Given the description of an element on the screen output the (x, y) to click on. 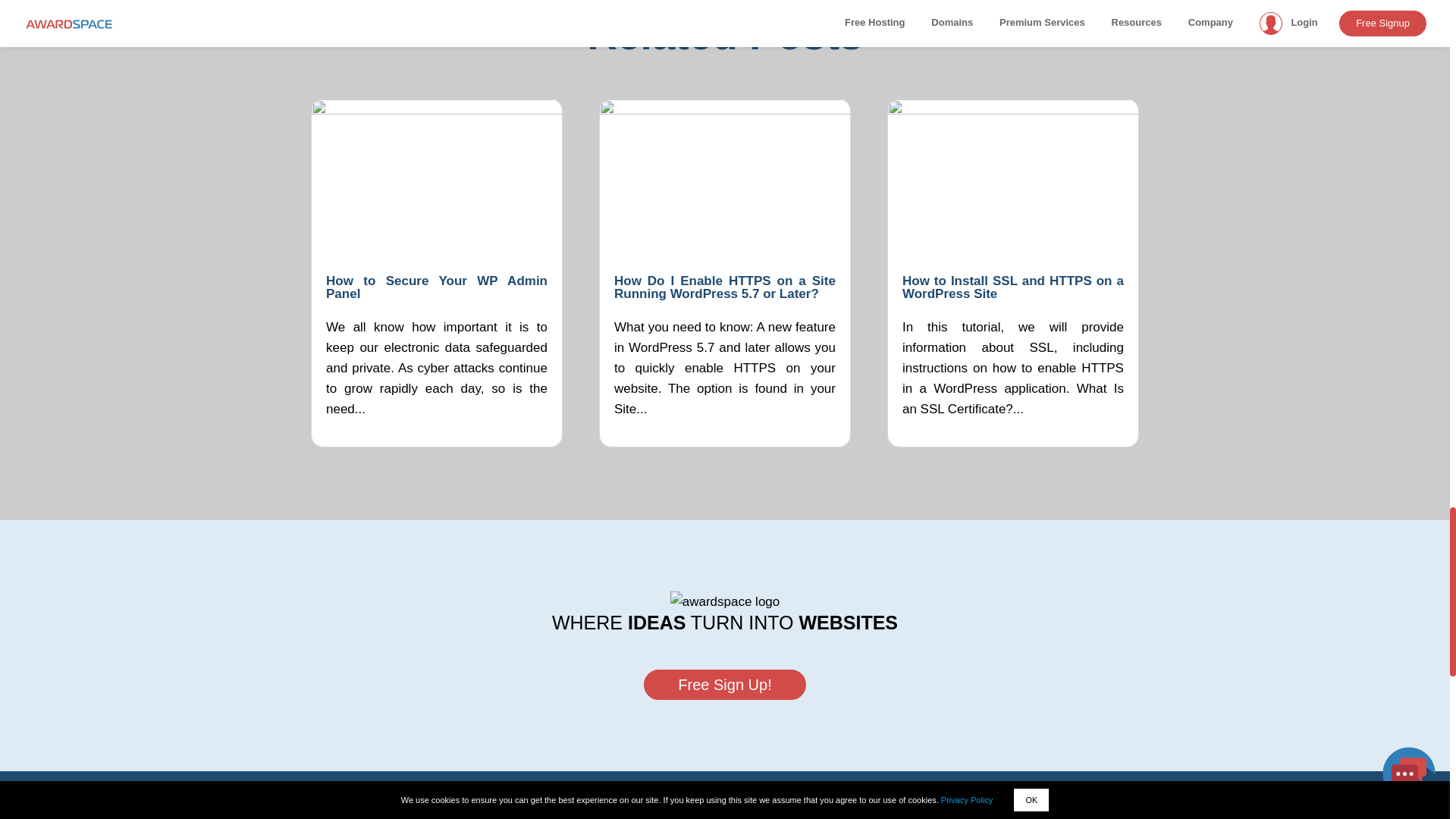
How to Secure Your WP Admin Panel (436, 287)
